Given the description of an element on the screen output the (x, y) to click on. 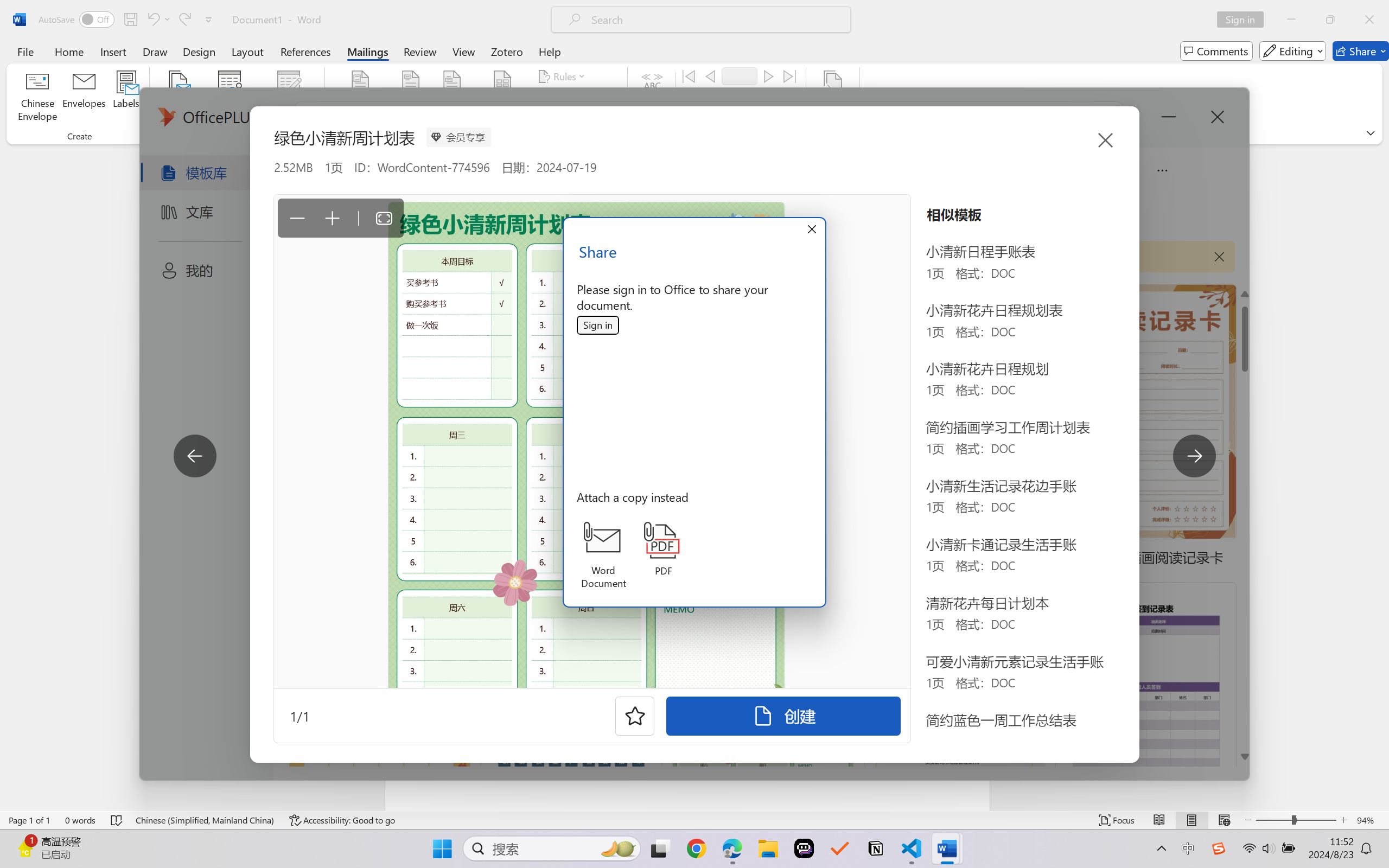
Find Recipient... (723, 97)
Finish & Merge (832, 97)
Redo Apply Quick Style (184, 19)
Sign in (597, 325)
